Given the description of an element on the screen output the (x, y) to click on. 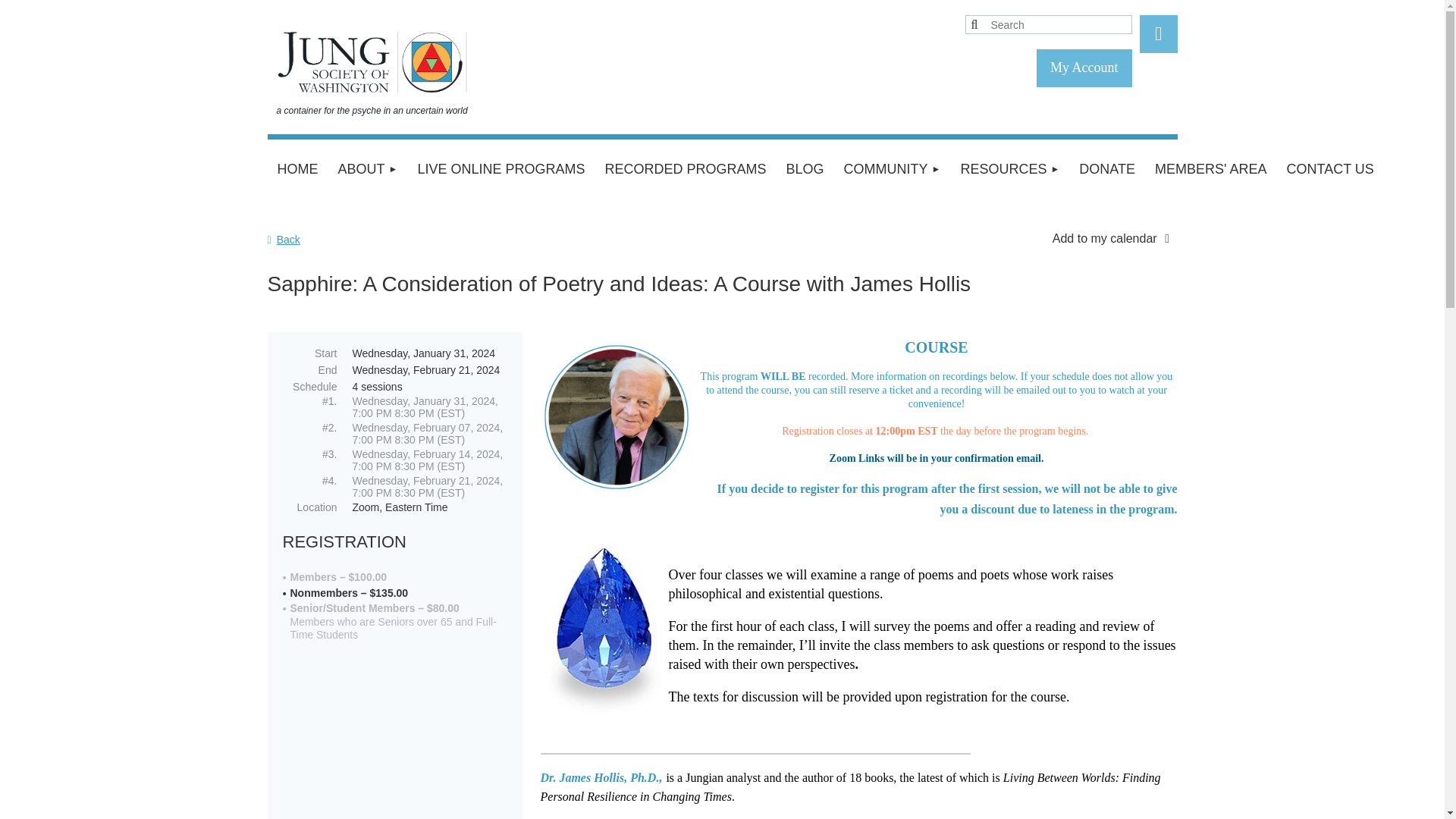
Log in (1157, 34)
My Account (1084, 67)
HOME (296, 169)
ABOUT (367, 169)
LIVE ONLINE PROGRAMS (500, 169)
